Given the description of an element on the screen output the (x, y) to click on. 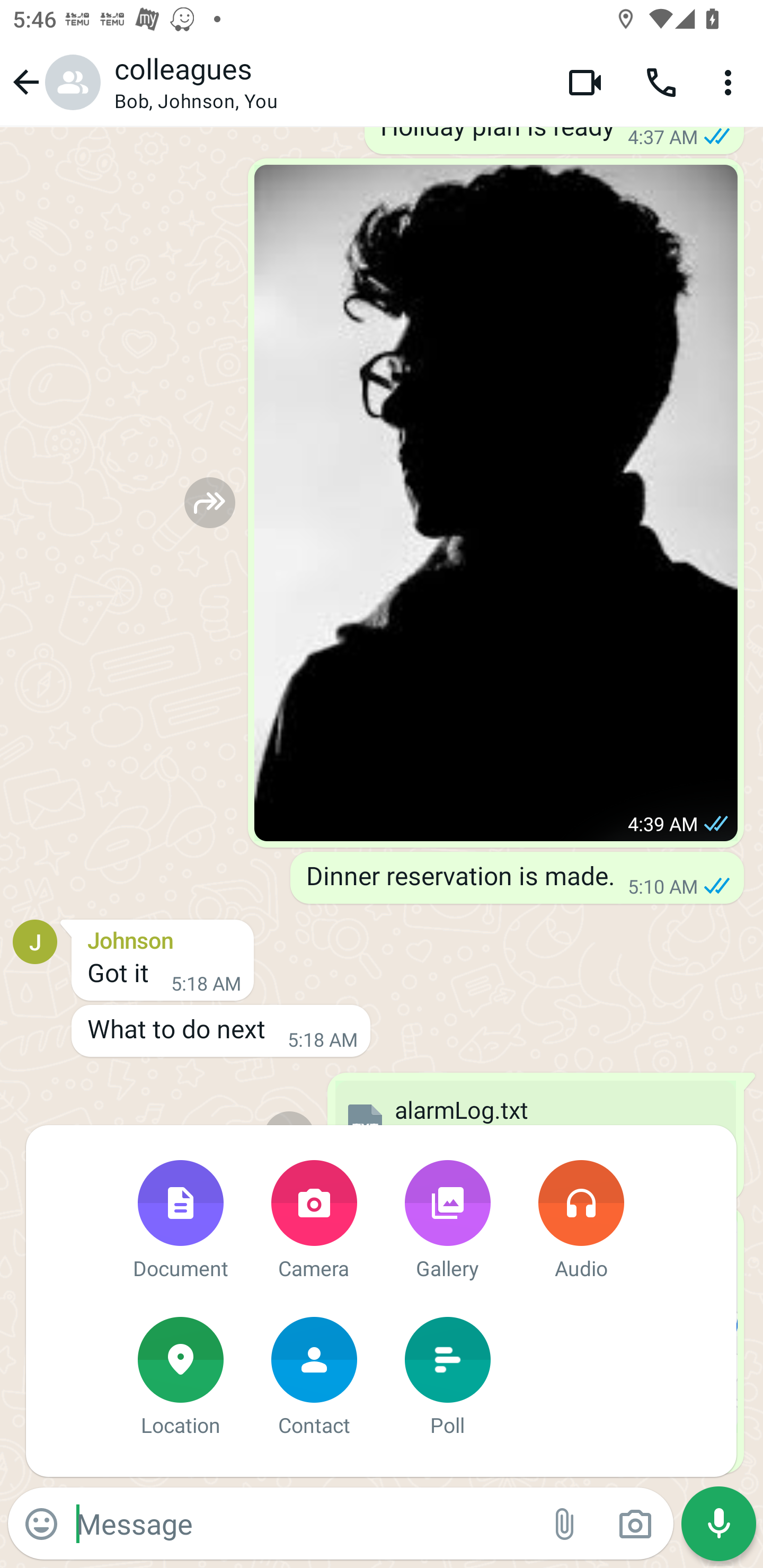
Document (180, 1221)
Camera (313, 1221)
Gallery (447, 1221)
Audio (580, 1221)
Location (180, 1378)
Contact (313, 1378)
Poll (447, 1378)
